Given the description of an element on the screen output the (x, y) to click on. 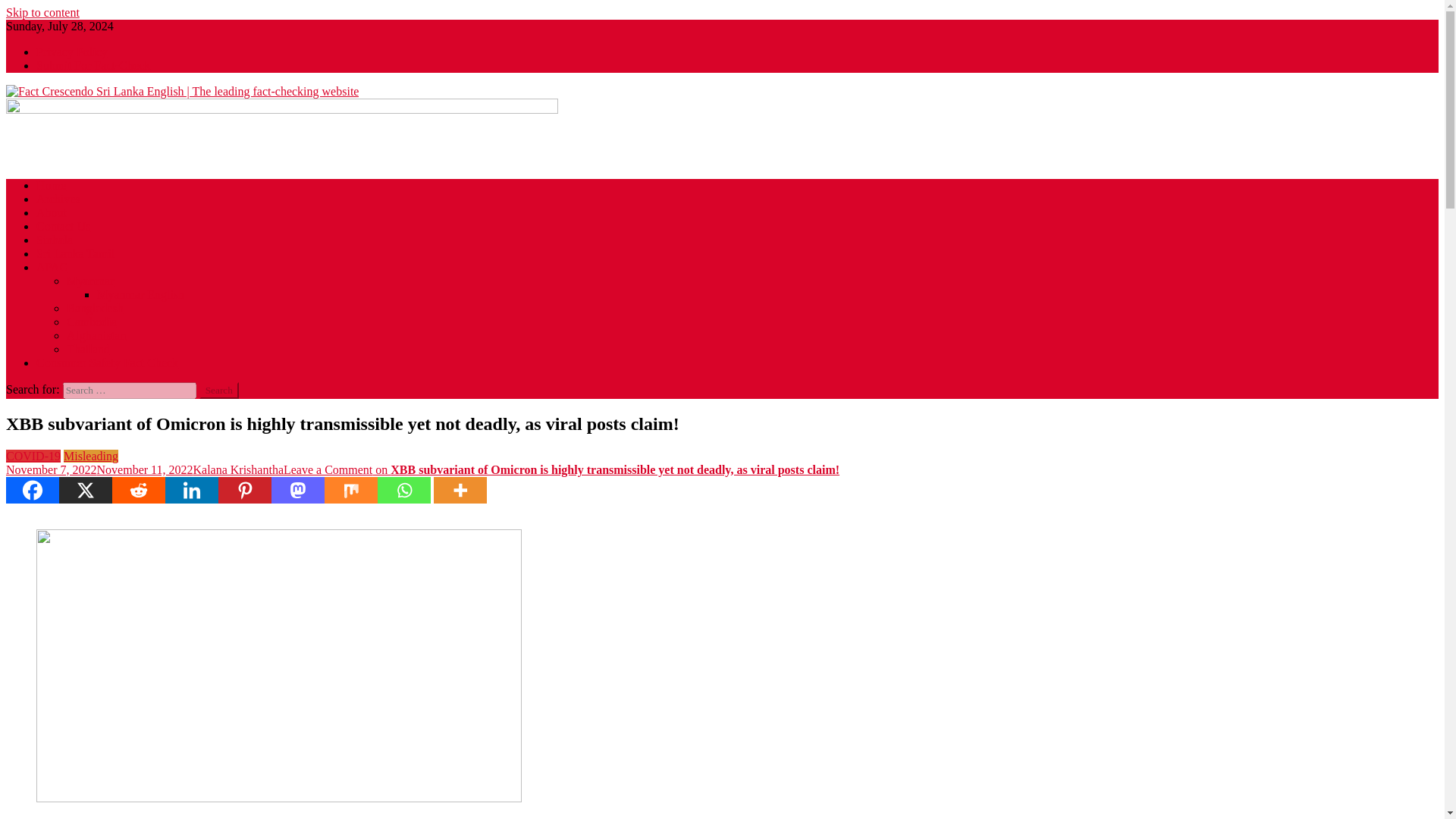
Search (218, 390)
Sinhala (54, 239)
About (51, 212)
Search (218, 390)
Skip to content (42, 11)
Pinterest (244, 489)
Home (50, 185)
Myanmar (89, 280)
Afghanistan (95, 335)
Bangladesh (94, 308)
Thailand (88, 349)
More (459, 489)
Mix (350, 489)
Misleading (90, 455)
Linkedin (191, 489)
